Given the description of an element on the screen output the (x, y) to click on. 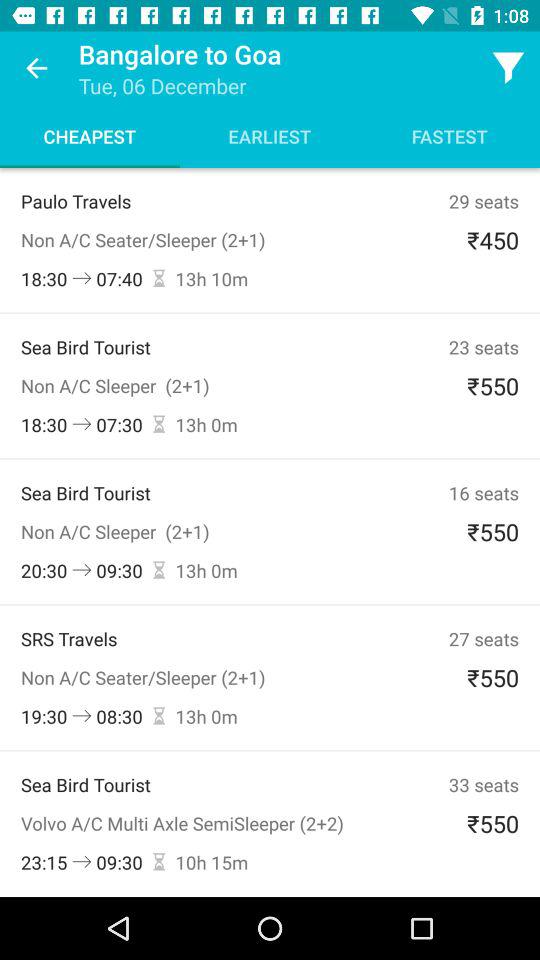
turn on the item above cheapest (36, 68)
